Given the description of an element on the screen output the (x, y) to click on. 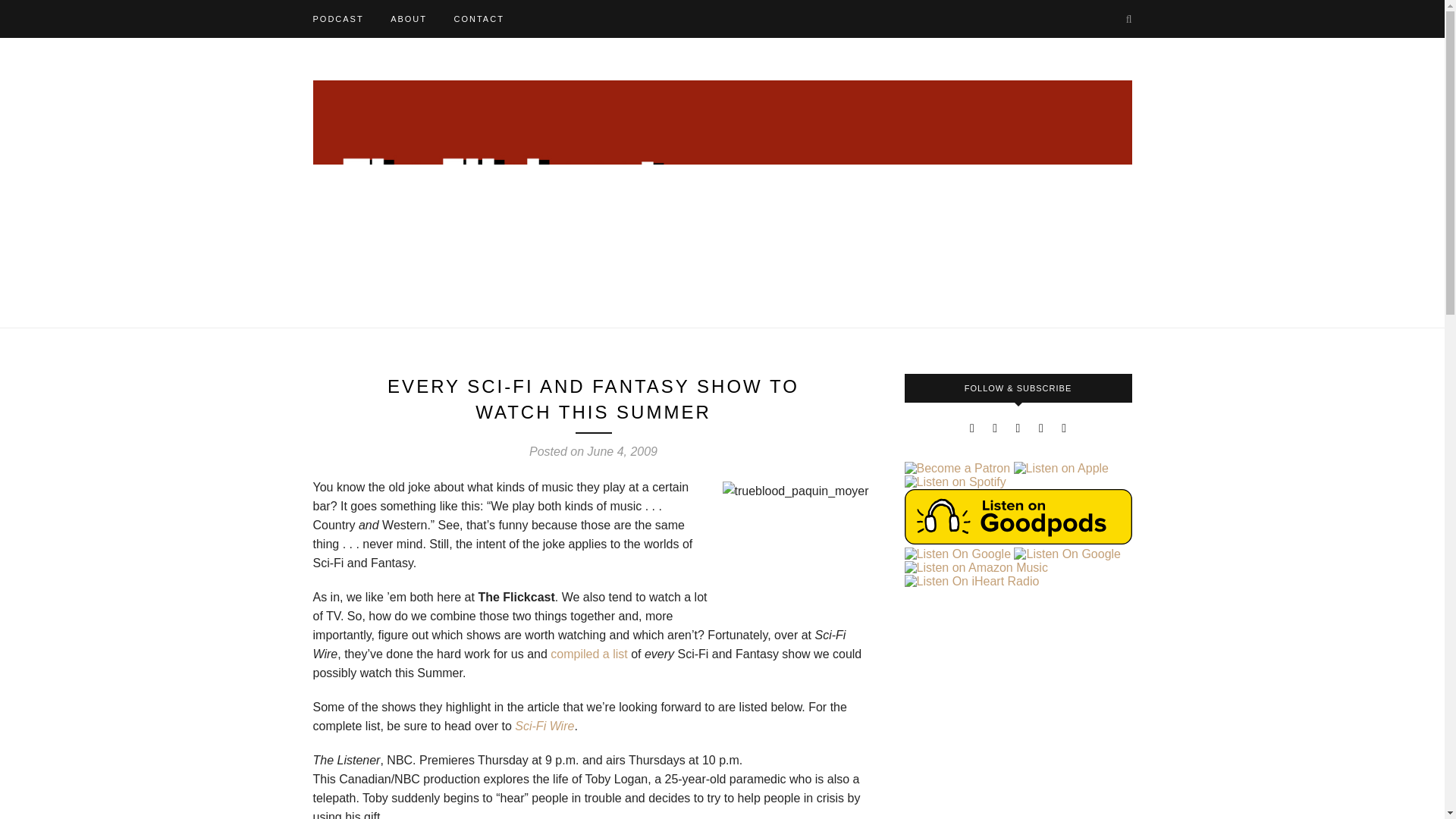
PODCAST (337, 18)
compiled a list (588, 653)
CONTACT (477, 18)
Sci-Fi Wire (544, 725)
ABOUT (408, 18)
